Given the description of an element on the screen output the (x, y) to click on. 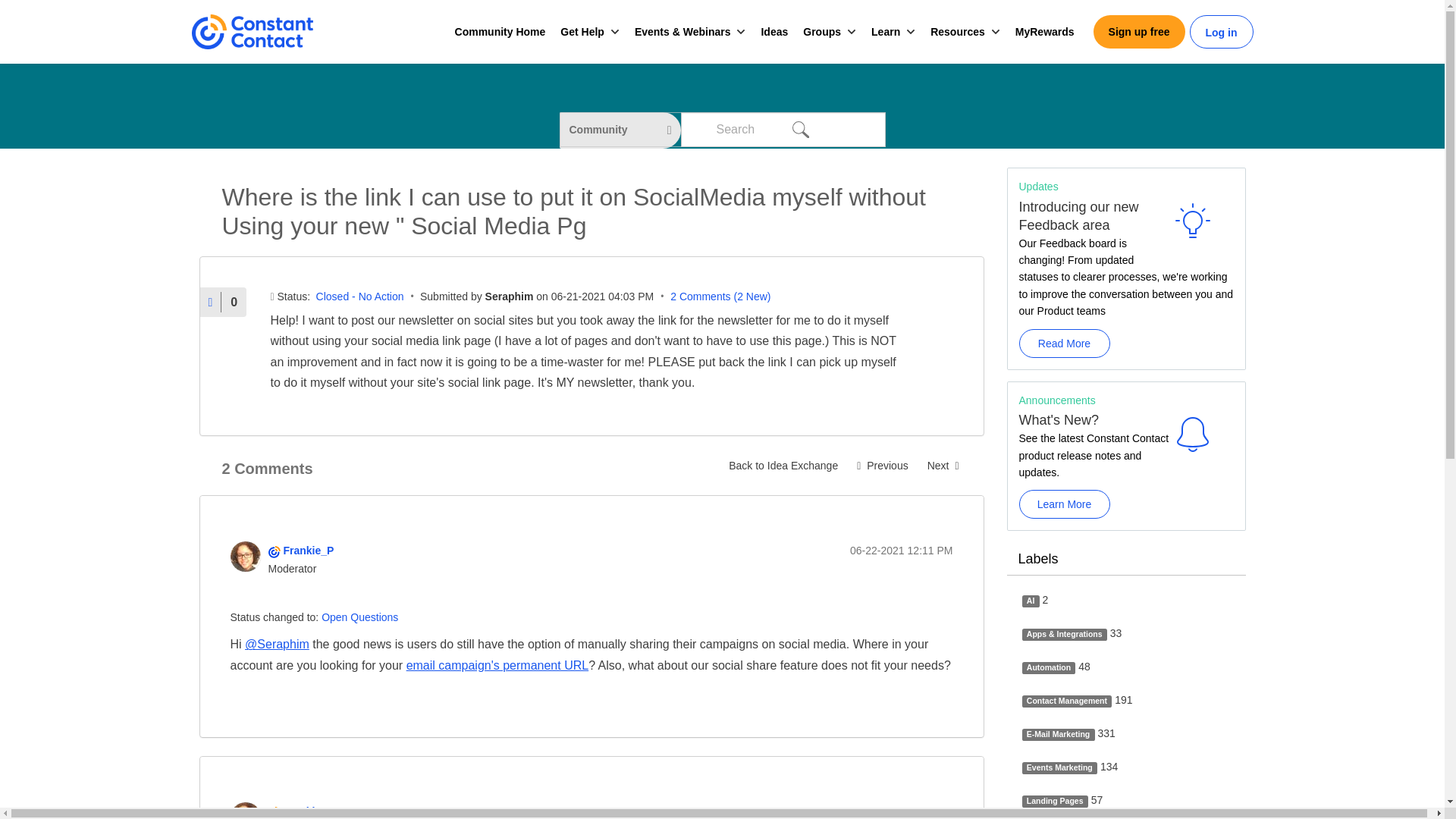
Sign up free (1139, 31)
Log in (1221, 32)
Learn (884, 31)
Community Home (500, 31)
Groups (822, 31)
MyRewards (1044, 31)
Search (799, 129)
Get Help (582, 31)
Sign up free (1139, 31)
Resources (957, 31)
Ideas (773, 31)
Search (799, 129)
Log in (1221, 32)
